Given the description of an element on the screen output the (x, y) to click on. 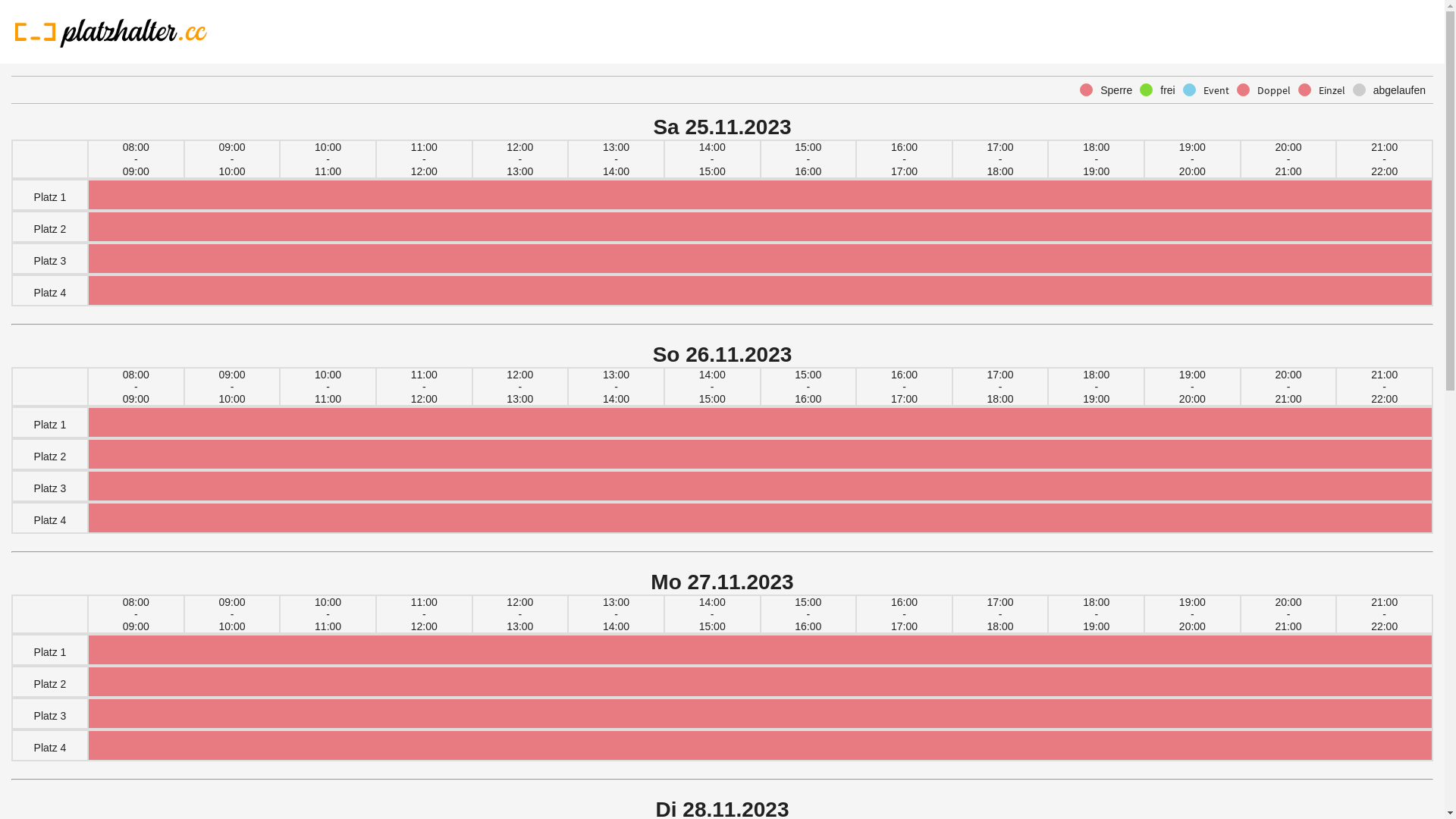
 ist belegt Element type: hover (759, 262)
 ist belegt Element type: hover (759, 199)
 ist belegt Element type: hover (759, 654)
 ist belegt Element type: hover (759, 522)
 ist belegt Element type: hover (759, 490)
 ist belegt Element type: hover (759, 458)
 ist belegt Element type: hover (759, 685)
 ist belegt Element type: hover (759, 230)
 ist belegt Element type: hover (759, 294)
 ist belegt Element type: hover (759, 749)
 ist belegt Element type: hover (759, 717)
 ist belegt Element type: hover (759, 426)
